Given the description of an element on the screen output the (x, y) to click on. 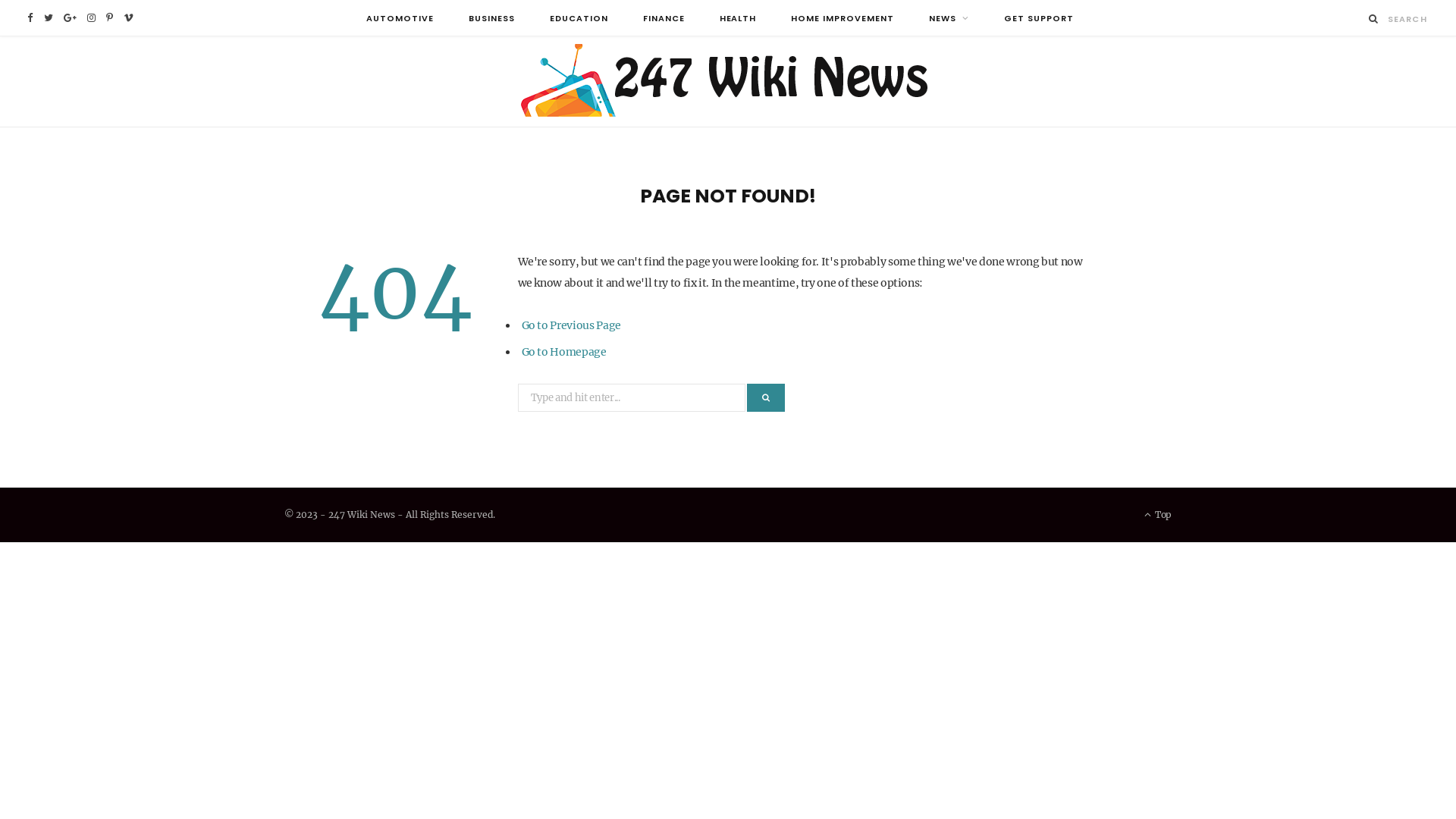
NEWS Element type: text (949, 18)
BUSINESS Element type: text (491, 18)
EDUCATION Element type: text (578, 18)
Twitter Element type: text (48, 18)
FINANCE Element type: text (663, 18)
Instagram Element type: text (91, 18)
Go to Previous Page Element type: text (571, 325)
AUTOMOTIVE Element type: text (399, 18)
Top Element type: text (1157, 514)
Go to Homepage Element type: text (563, 351)
Pinterest Element type: text (109, 18)
Vimeo Element type: text (128, 18)
Search for: Element type: hover (630, 397)
HEALTH Element type: text (737, 18)
Facebook Element type: text (29, 18)
HOME IMPROVEMENT Element type: text (842, 18)
Google Plus Element type: text (70, 18)
GET SUPPORT Element type: text (1038, 18)
